Given the description of an element on the screen output the (x, y) to click on. 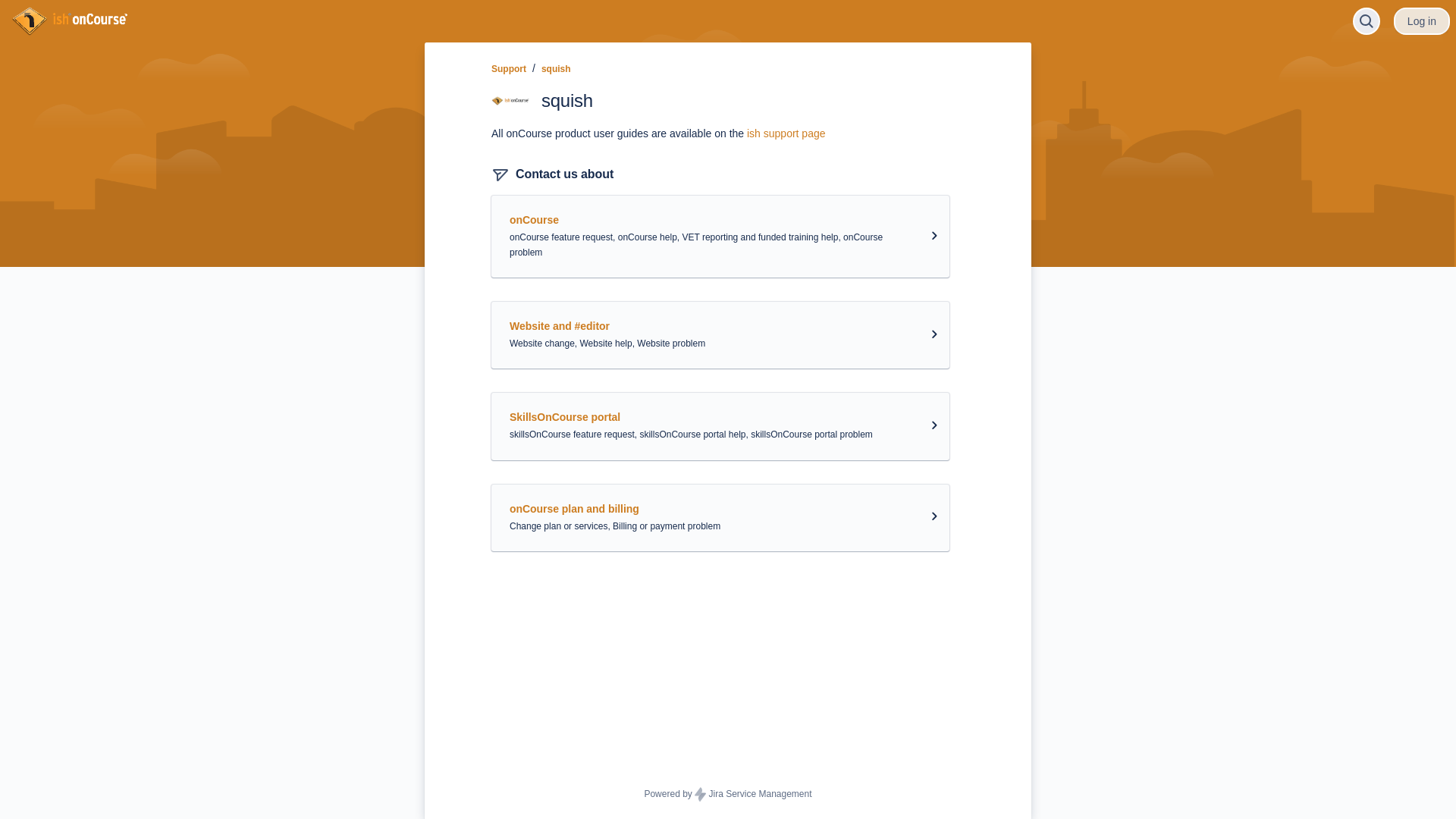
Support Element type: text (508, 68)
Log in Element type: text (1421, 21)
ish support page Element type: text (785, 133)
Powered by Jira Service Management Element type: text (727, 794)
squish Element type: text (556, 68)
